Given the description of an element on the screen output the (x, y) to click on. 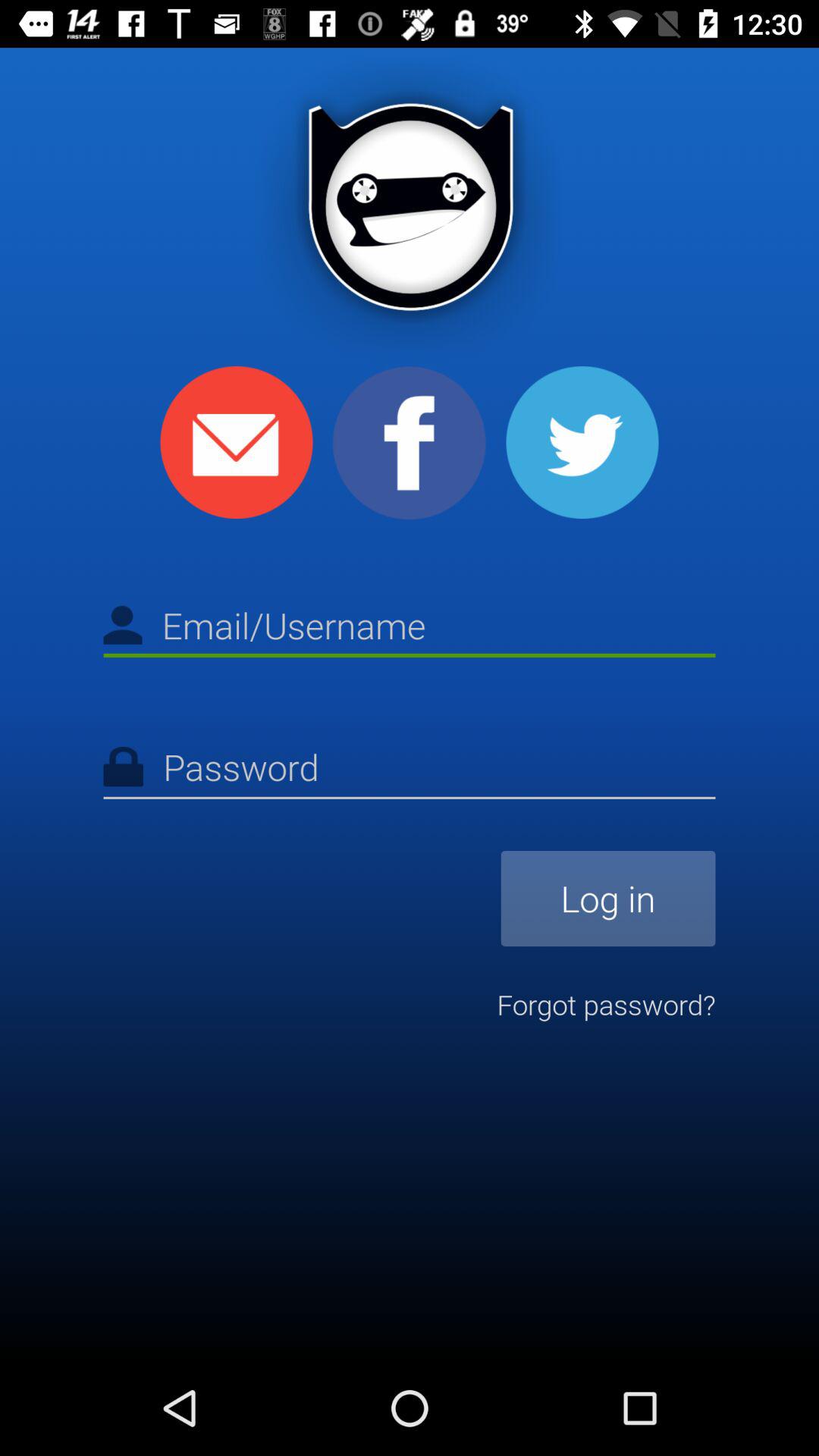
jump until the log in icon (608, 898)
